Given the description of an element on the screen output the (x, y) to click on. 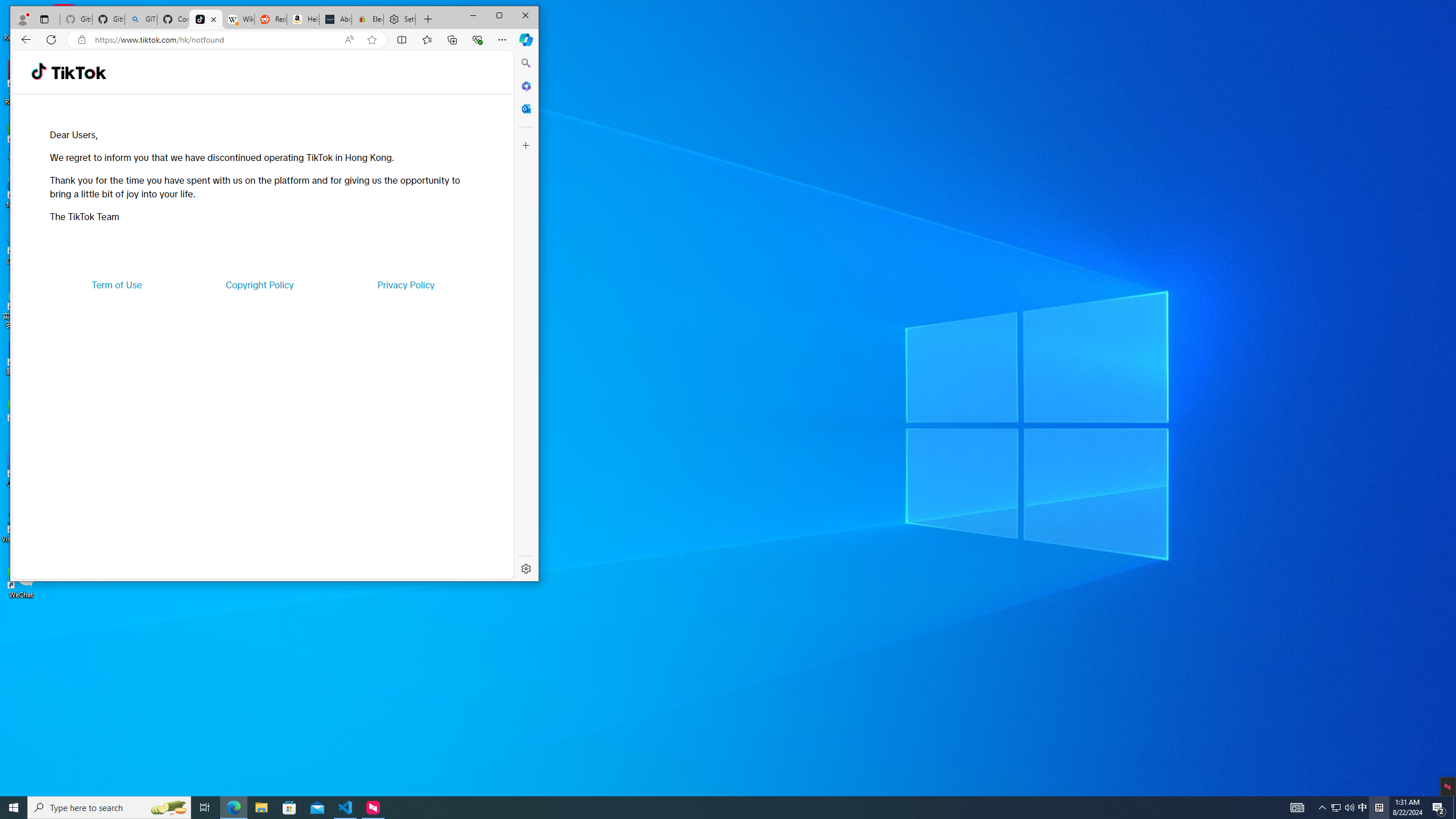
Action Center, 2 new notifications (1439, 807)
Show desktop (1335, 807)
Search highlights icon opens search home window (1454, 807)
Copyright Policy (167, 807)
Running applications (259, 284)
Q2790: 100% (707, 807)
